Given the description of an element on the screen output the (x, y) to click on. 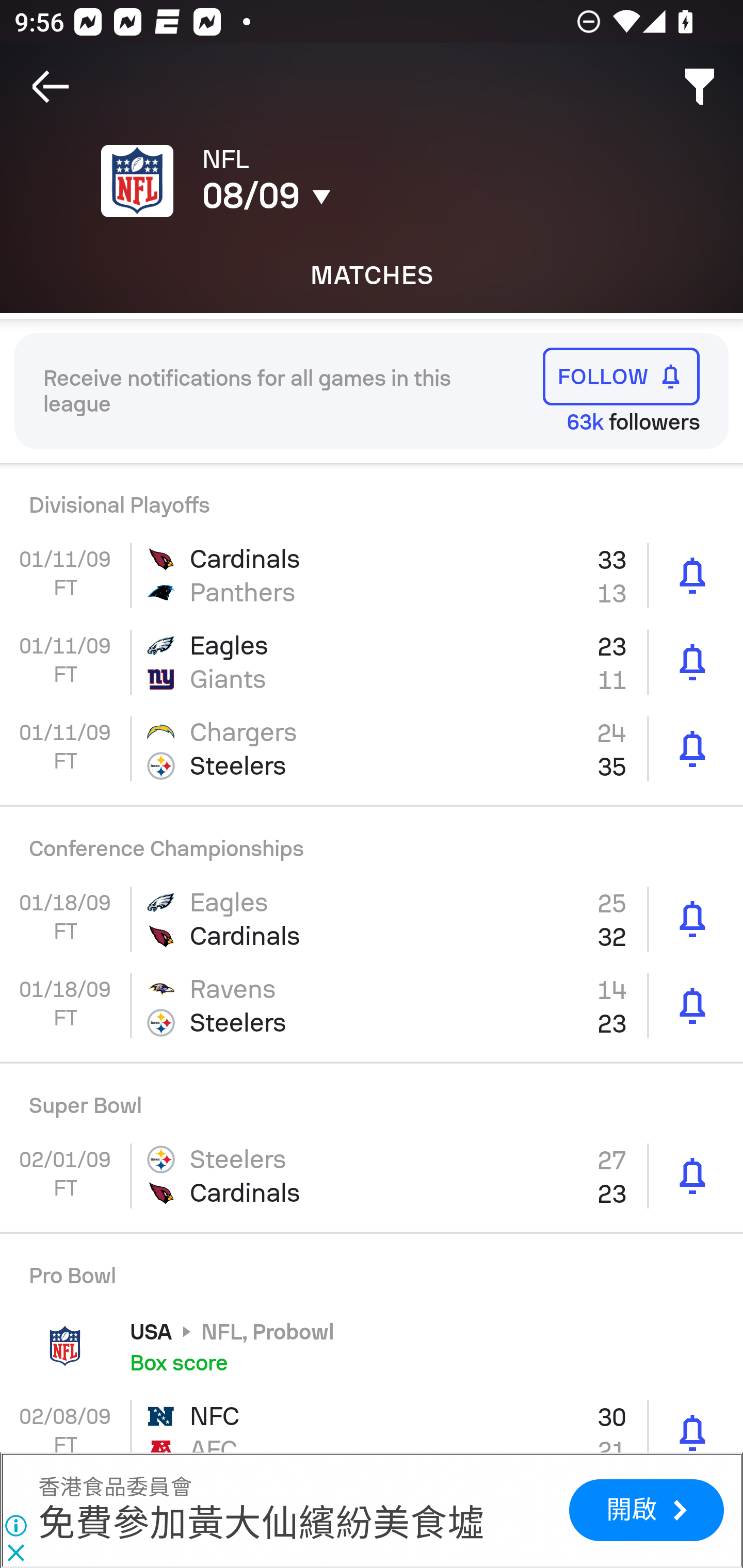
Navigate up (50, 86)
Find (699, 86)
08/09 (350, 195)
FOLLOW (621, 377)
01/10/09 FT Ravens 13 Titans 10 (371, 496)
01/11/09 FT Cardinals 33 Panthers 13 (371, 575)
01/11/09 FT Eagles 23 Giants 11 (371, 662)
01/11/09 FT Chargers 24 Steelers 35 (371, 748)
Conference Championships (371, 840)
01/18/09 FT Eagles 25 Cardinals 32 (371, 919)
01/18/09 FT Ravens 14 Steelers 23 (371, 1005)
Super Bowl (371, 1097)
02/01/09 FT Steelers 27 Cardinals 23 (371, 1175)
Pro Bowl (371, 1268)
USA NFL, Probowl Box score (371, 1346)
02/08/09 FT NFC 30 AFC 21 (371, 1420)
香港食品委員會 (114, 1486)
開啟 (645, 1509)
免費參加黃大仙繽紛美食墟 (260, 1523)
